Given the description of an element on the screen output the (x, y) to click on. 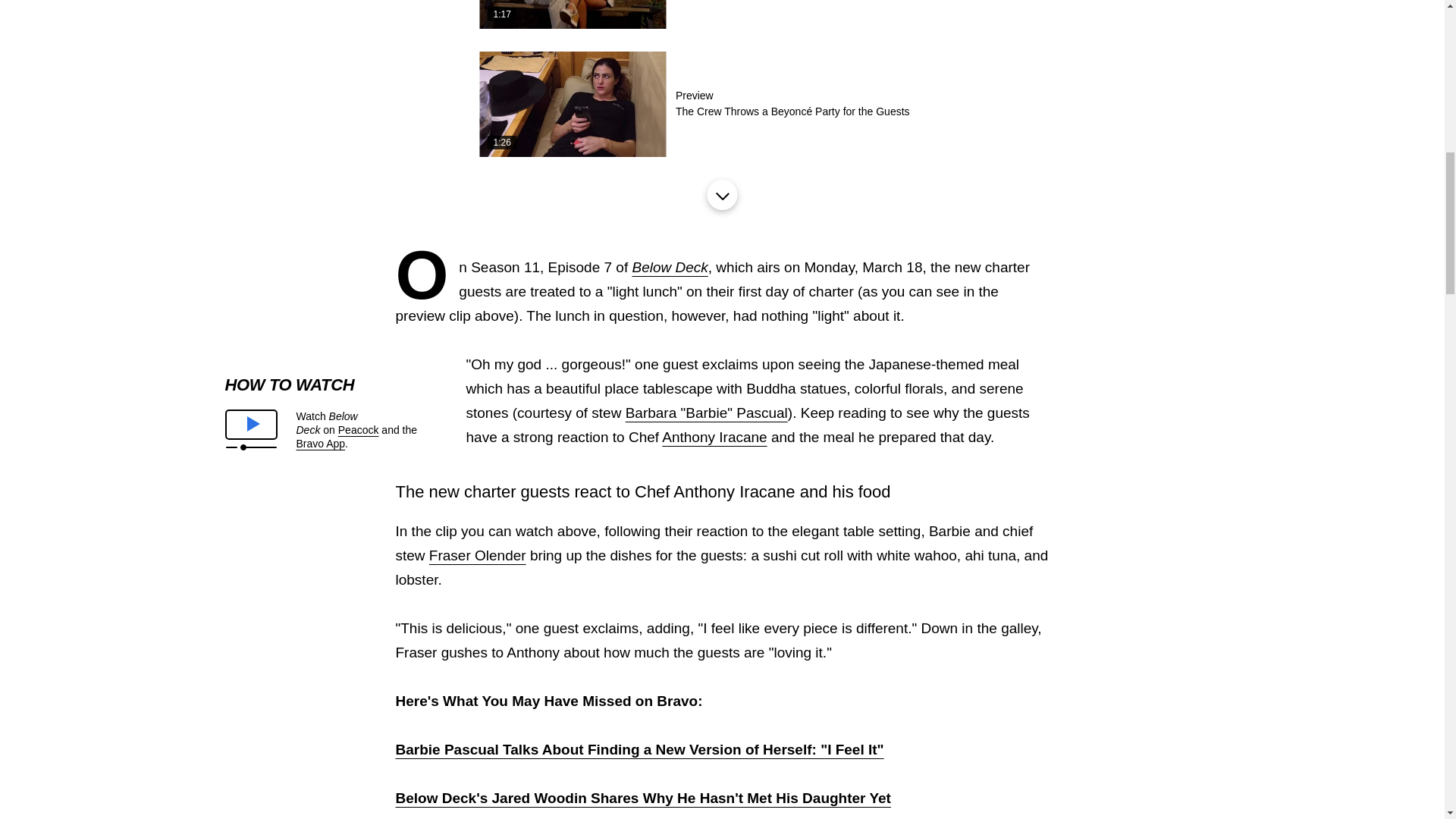
Below Deck (669, 267)
Anthony Iracane (714, 437)
Peacock (357, 429)
Fraser Olender (477, 555)
Fraser Olender (477, 555)
Load More (721, 194)
Bravo App (320, 443)
Below Deck (669, 267)
Barbara "Barbie" Pascual (706, 412)
